Given the description of an element on the screen output the (x, y) to click on. 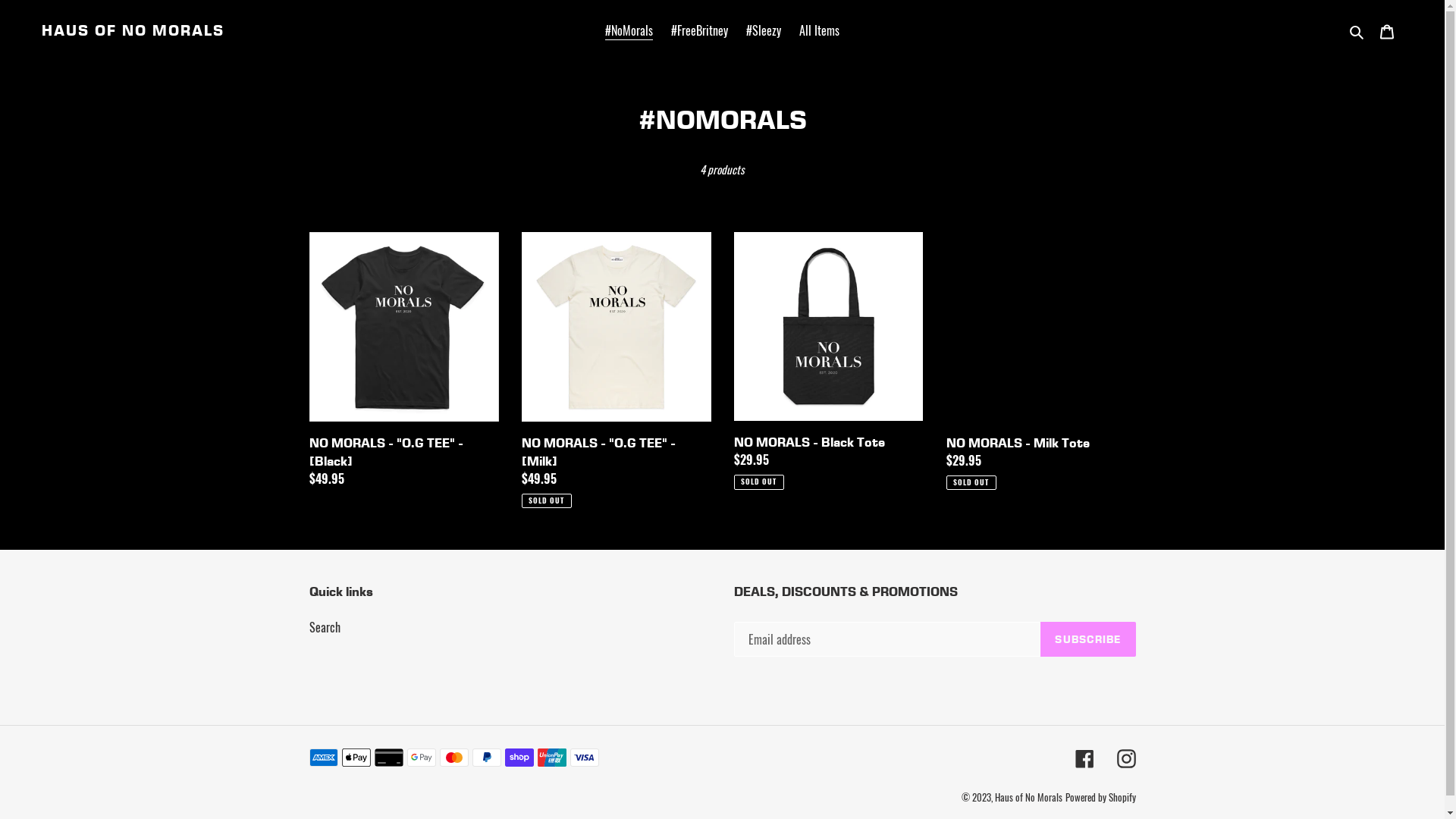
NO MORALS - "O.G TEE" - [Milk] Element type: text (616, 370)
HAUS OF NO MORALS Element type: text (132, 30)
Search Element type: text (324, 627)
#NoMorals Element type: text (628, 29)
SUBSCRIBE Element type: text (1087, 638)
All Items Element type: text (819, 29)
NO MORALS - Milk Tote Element type: text (1040, 361)
#FreeBritney Element type: text (699, 29)
Facebook Element type: text (1084, 757)
NO MORALS - Black Tote Element type: text (828, 361)
Powered by Shopify Element type: text (1099, 796)
Instagram Element type: text (1125, 757)
Haus of No Morals Element type: text (1028, 796)
#Sleezy Element type: text (763, 29)
NO MORALS - "O.G TEE" - [Black] Element type: text (403, 362)
Search Element type: text (1357, 30)
Cart Element type: text (1386, 30)
